Given the description of an element on the screen output the (x, y) to click on. 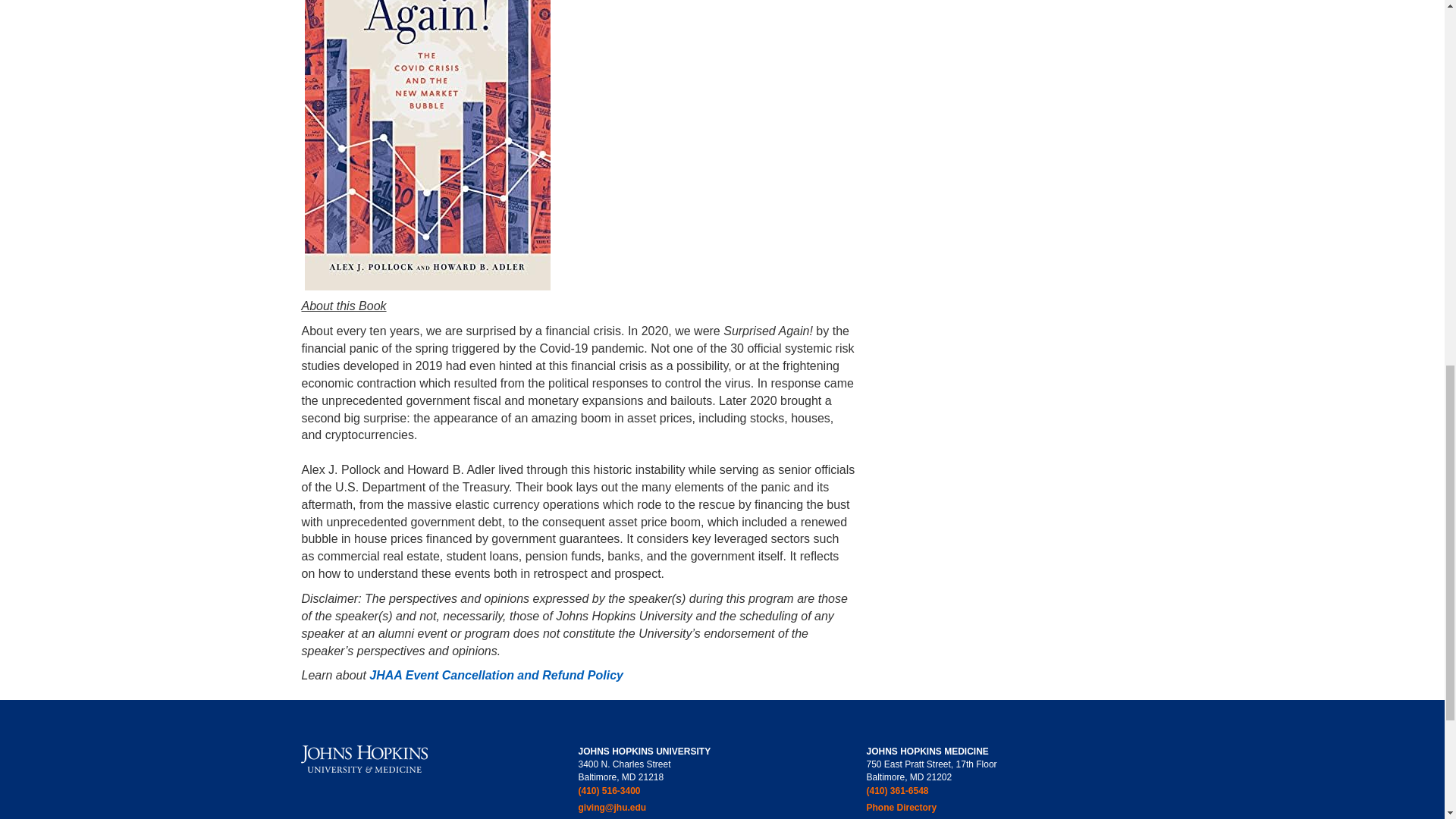
JHAA Event Cancellation and Refund Policy (496, 675)
Phone Directory (930, 807)
